Given the description of an element on the screen output the (x, y) to click on. 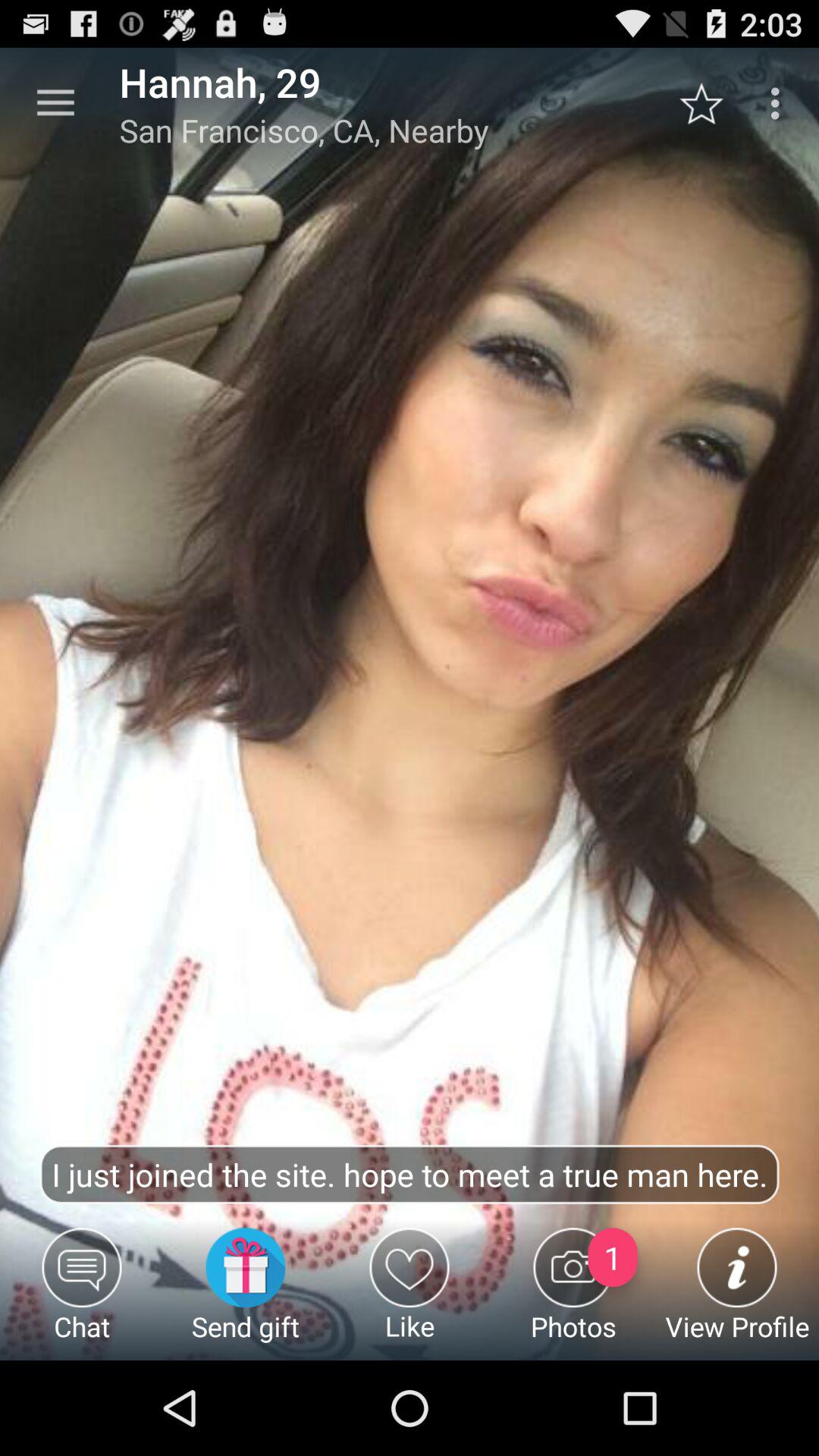
tap icon below the i just joined icon (409, 1293)
